Given the description of an element on the screen output the (x, y) to click on. 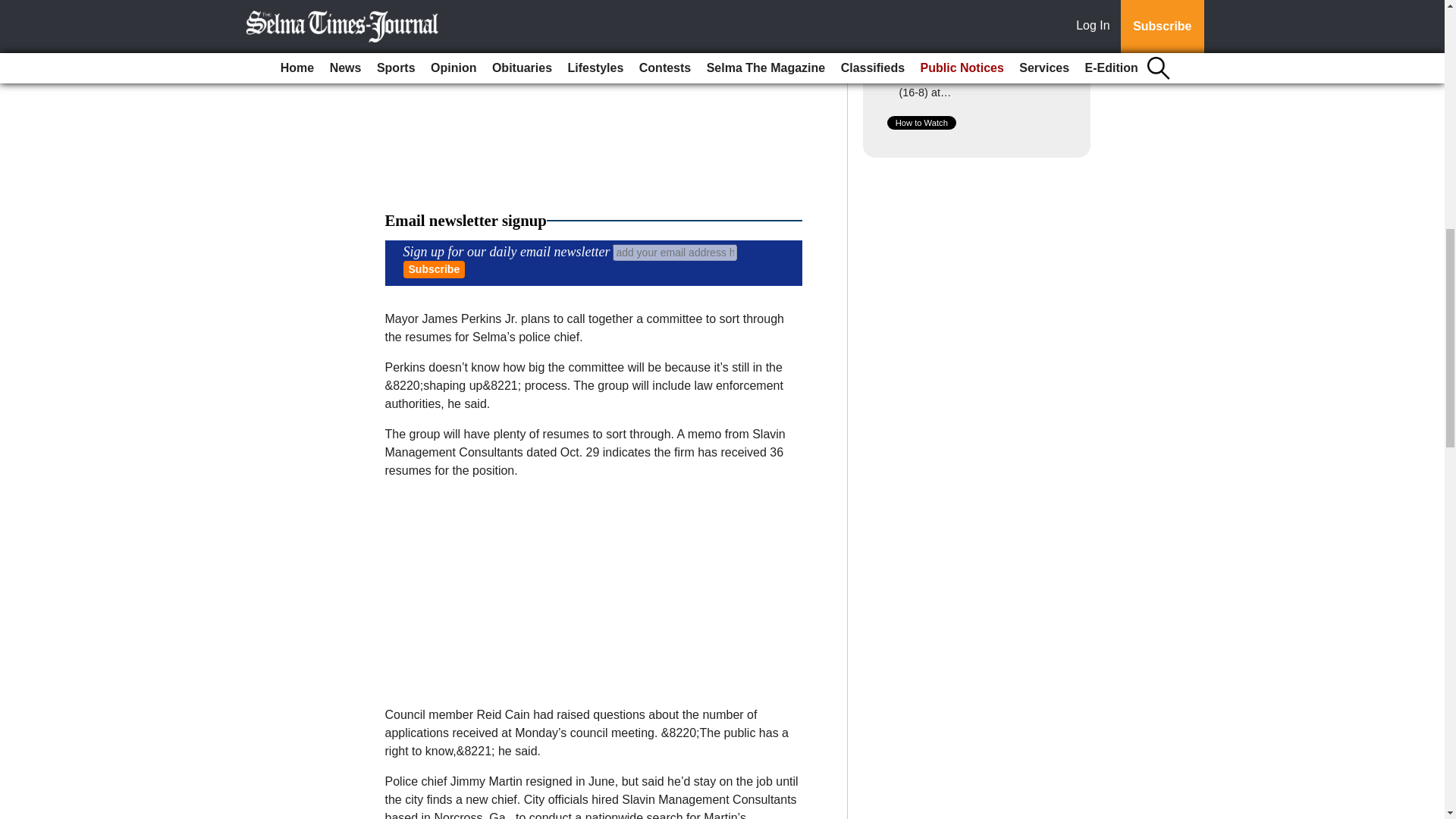
Subscribe (434, 269)
How to Watch (921, 122)
Subscribe (434, 269)
